Given the description of an element on the screen output the (x, y) to click on. 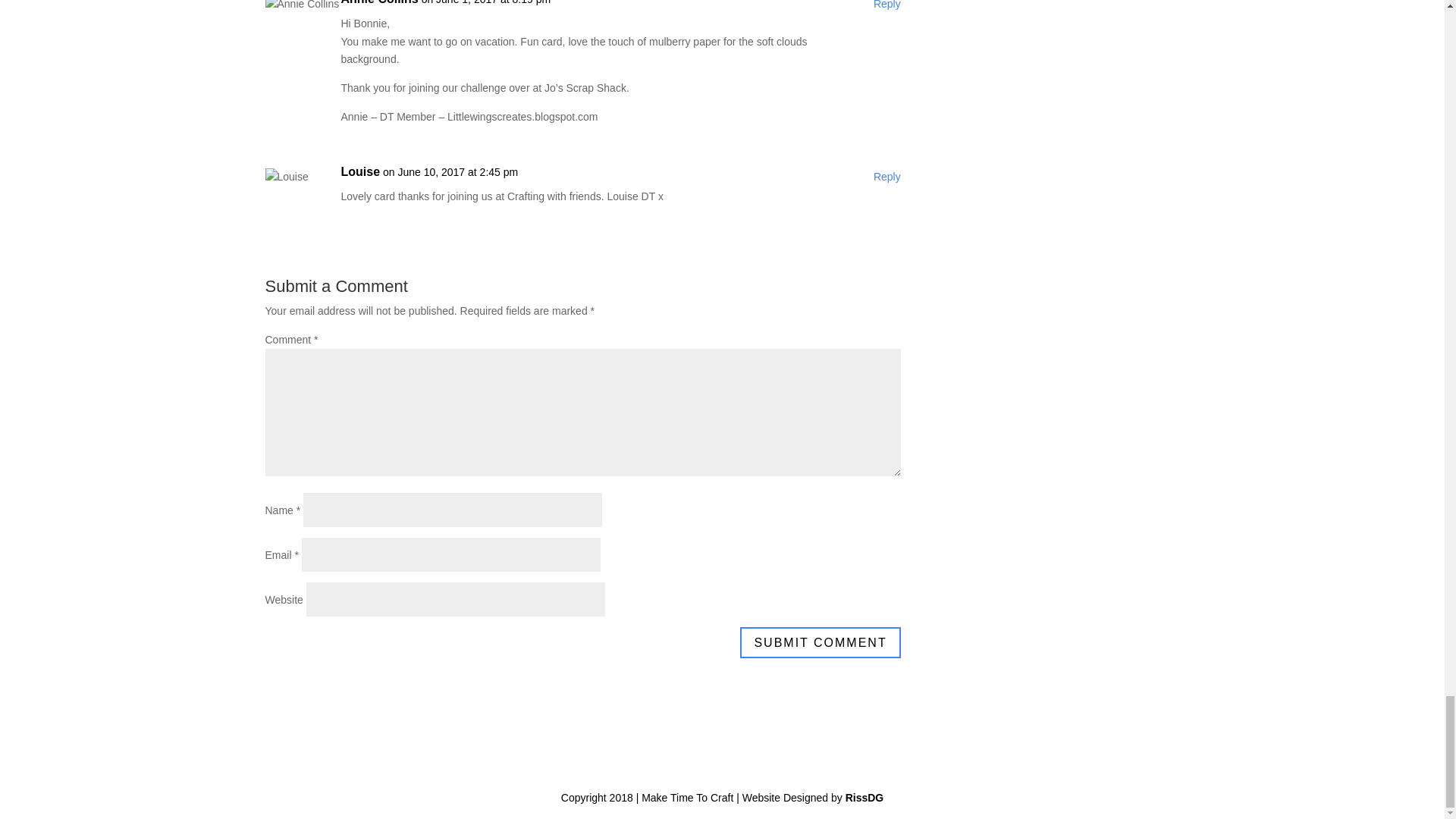
Submit Comment (819, 642)
